Given the description of an element on the screen output the (x, y) to click on. 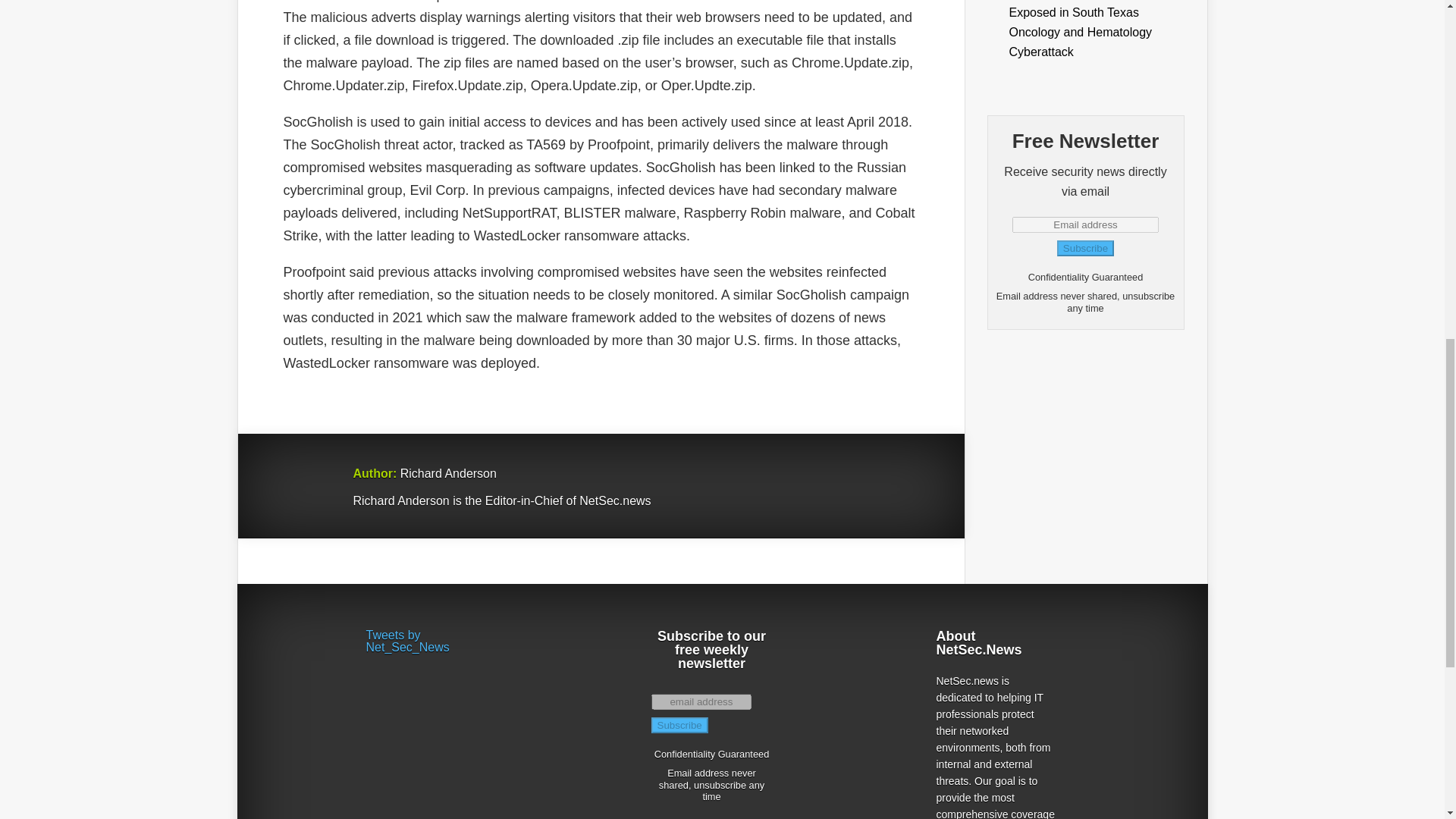
Subscribe (1085, 248)
Subscribe (678, 725)
